Given the description of an element on the screen output the (x, y) to click on. 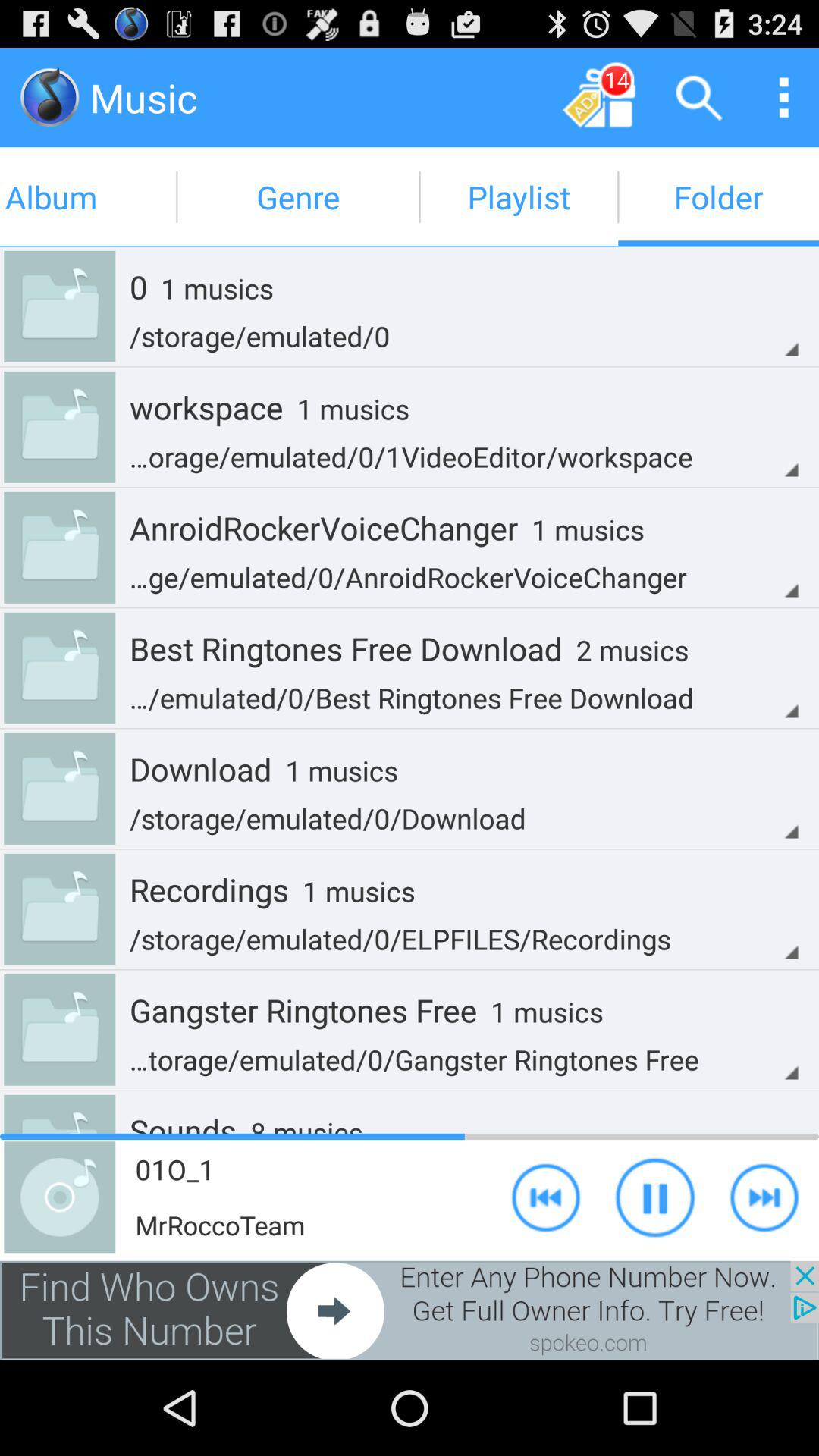
go to next botton (764, 1196)
